Given the description of an element on the screen output the (x, y) to click on. 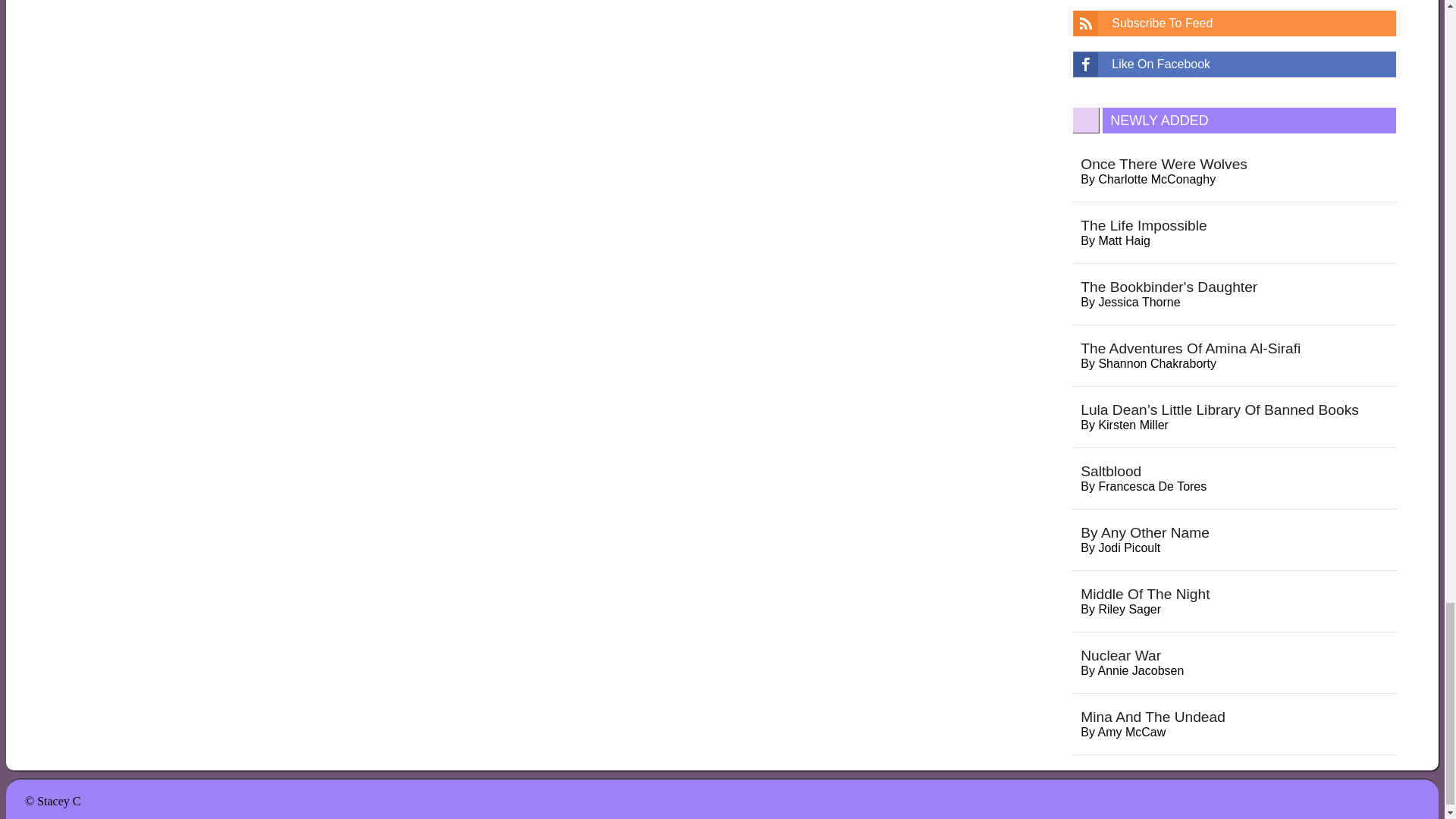
Saltblood (1110, 471)
Middle Of The Night (1144, 593)
Subscribe To Feed (1234, 23)
Mina And The Undead (1152, 716)
The Bookbinder'S Daughter (1168, 286)
Once There Were Wolves (1163, 163)
The Life Impossible (1143, 225)
By Any Other Name (1144, 532)
The Adventures Of Amina Al-Sirafi (1190, 348)
Nuclear War (1120, 655)
